Given the description of an element on the screen output the (x, y) to click on. 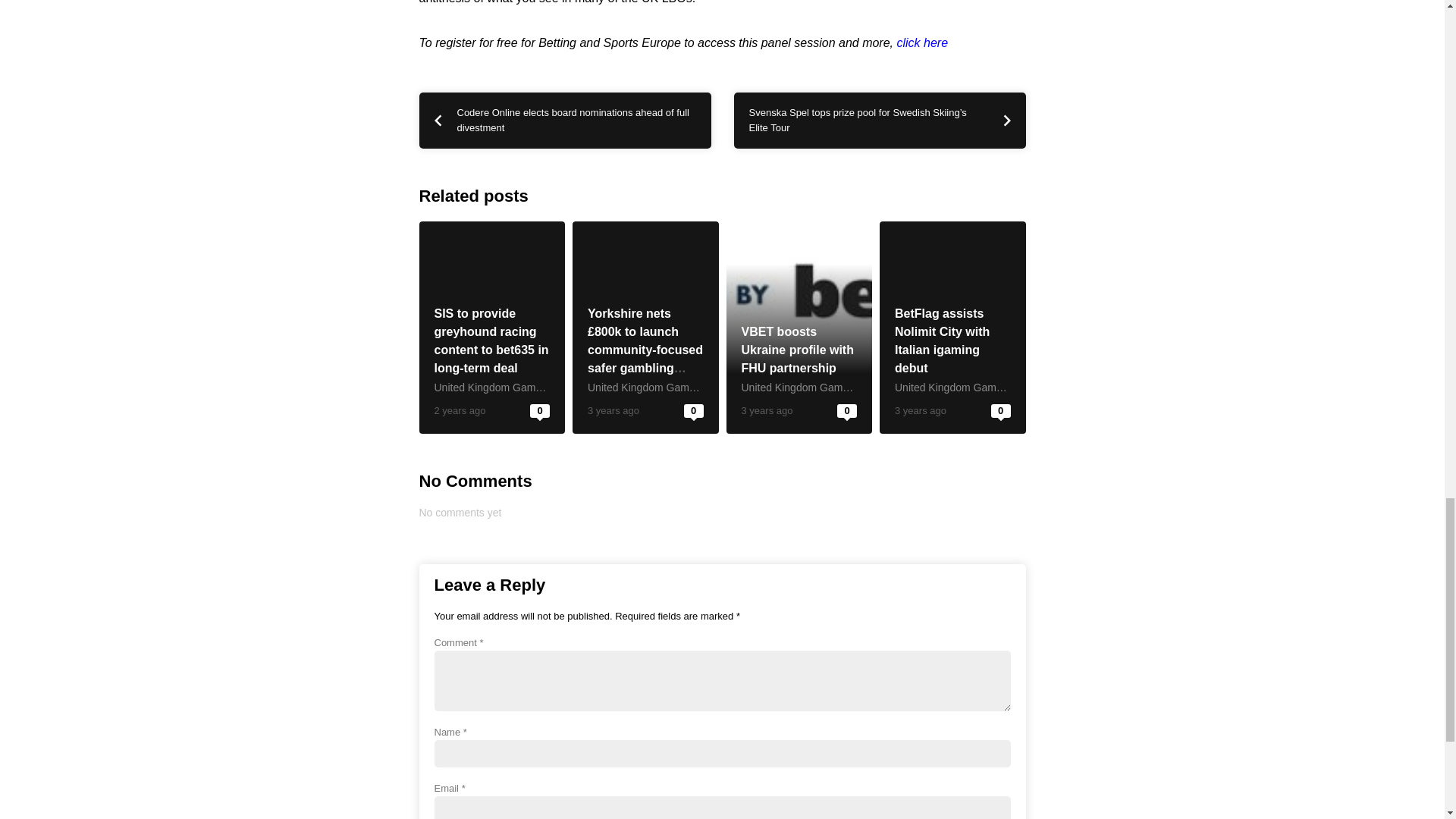
United Kingdom Gambling Commission (987, 387)
VBET boosts Ukraine profile with FHU partnership (797, 349)
United Kingdom Gambling Commission (525, 387)
BetFlag assists Nolimit City with Italian igaming debut (942, 340)
United Kingdom Gambling Commission (680, 387)
United Kingdom Gambling Commission (833, 387)
